Given the description of an element on the screen output the (x, y) to click on. 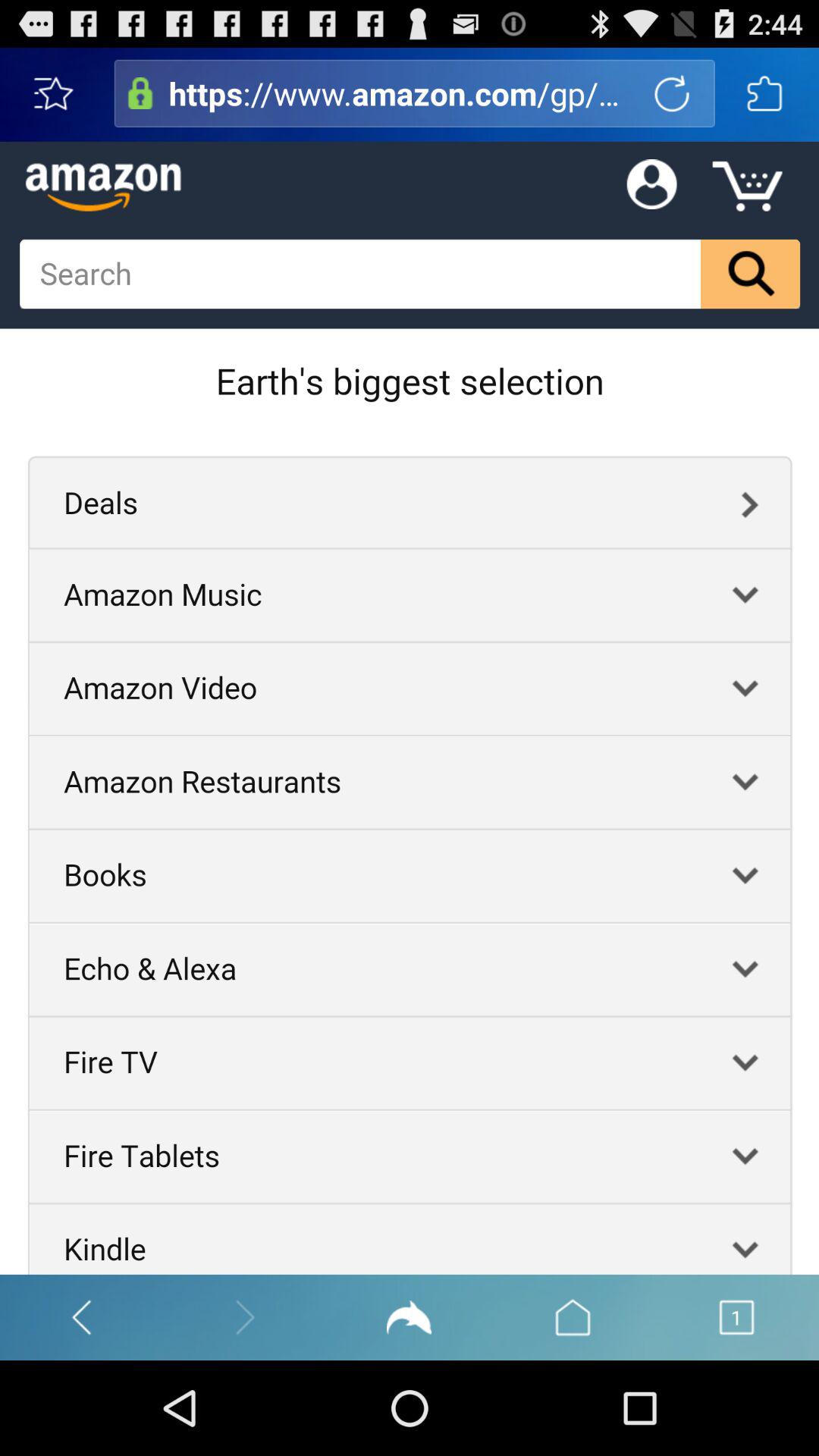
visit site information (140, 93)
